Given the description of an element on the screen output the (x, y) to click on. 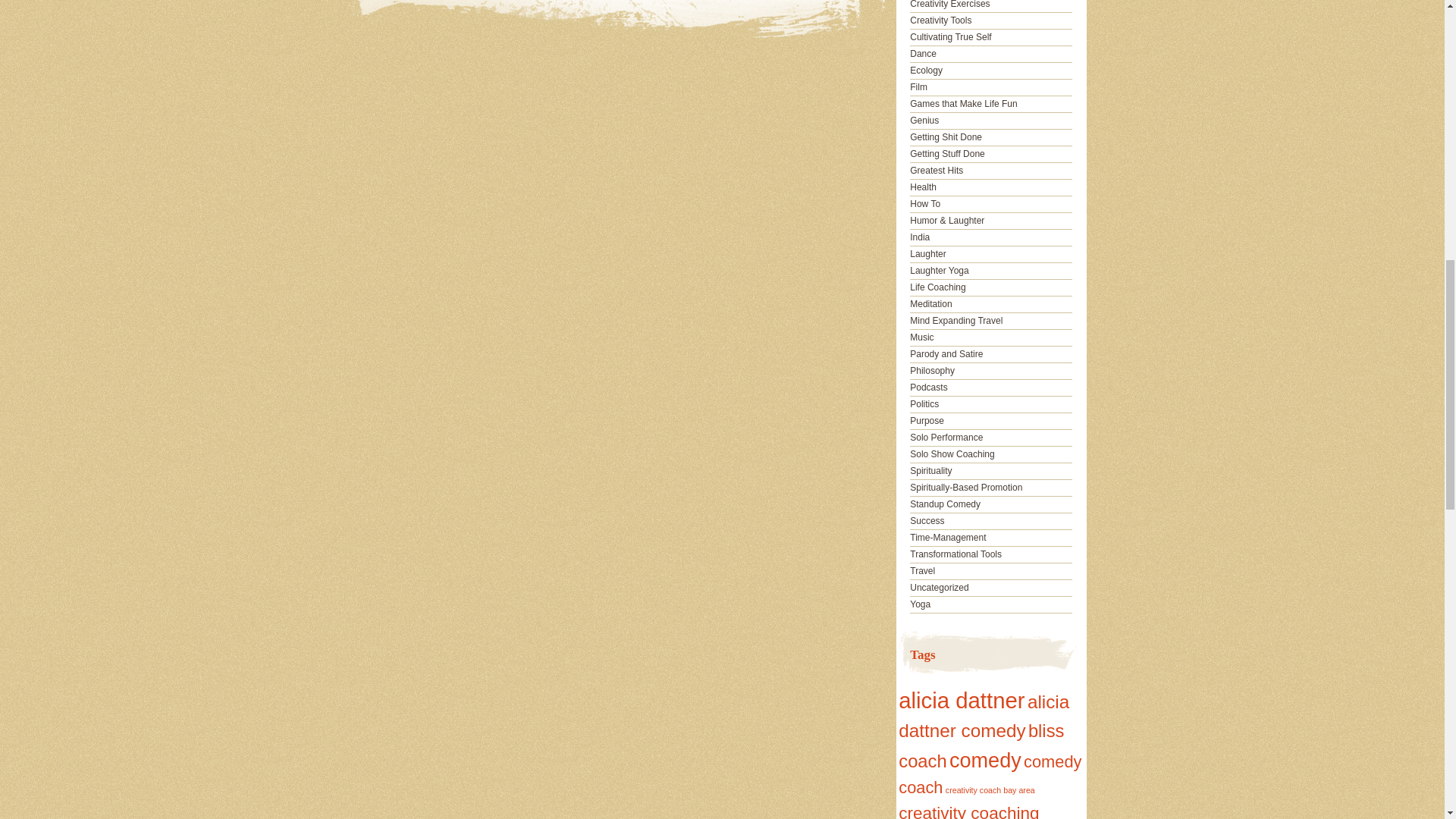
Ecology (926, 70)
How To (925, 204)
Genius (924, 120)
Health (923, 186)
Getting Shit Done (945, 136)
Creativity Tools (940, 20)
Greatest Hits (936, 170)
Creativity Exercises (950, 4)
Games that Make Life Fun (963, 103)
Cultivating True Self (950, 36)
Getting Stuff Done (947, 153)
Film (918, 86)
Dance (923, 53)
